Given the description of an element on the screen output the (x, y) to click on. 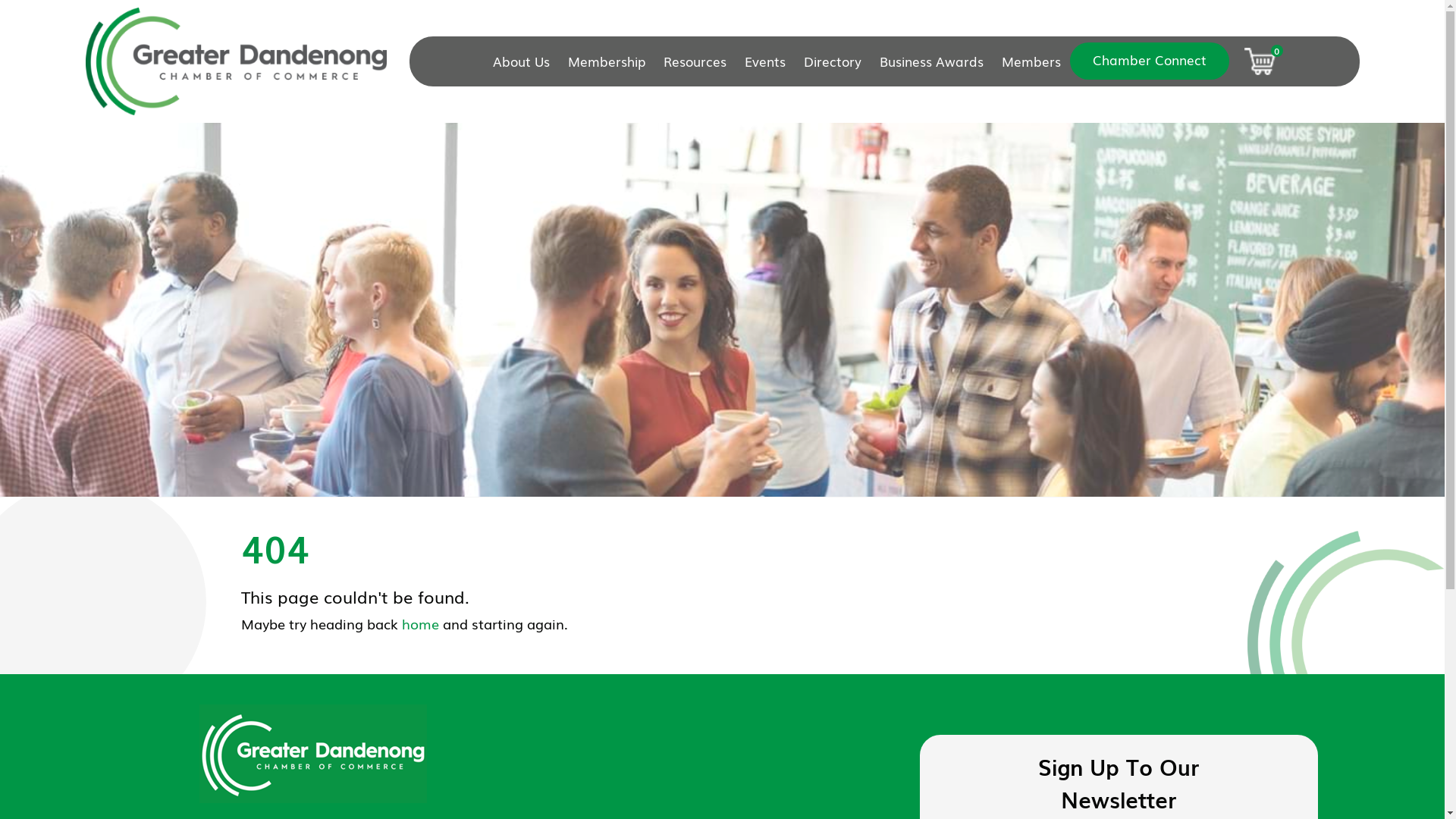
Events Element type: text (764, 61)
Chamber Connect Element type: text (1149, 60)
Business Awards Element type: text (931, 61)
home Element type: text (420, 623)
About Us Element type: text (525, 61)
0 Element type: text (1260, 61)
Membership Element type: text (606, 61)
Members Element type: text (1031, 61)
Resources Element type: text (694, 61)
Directory Element type: text (832, 61)
